Given the description of an element on the screen output the (x, y) to click on. 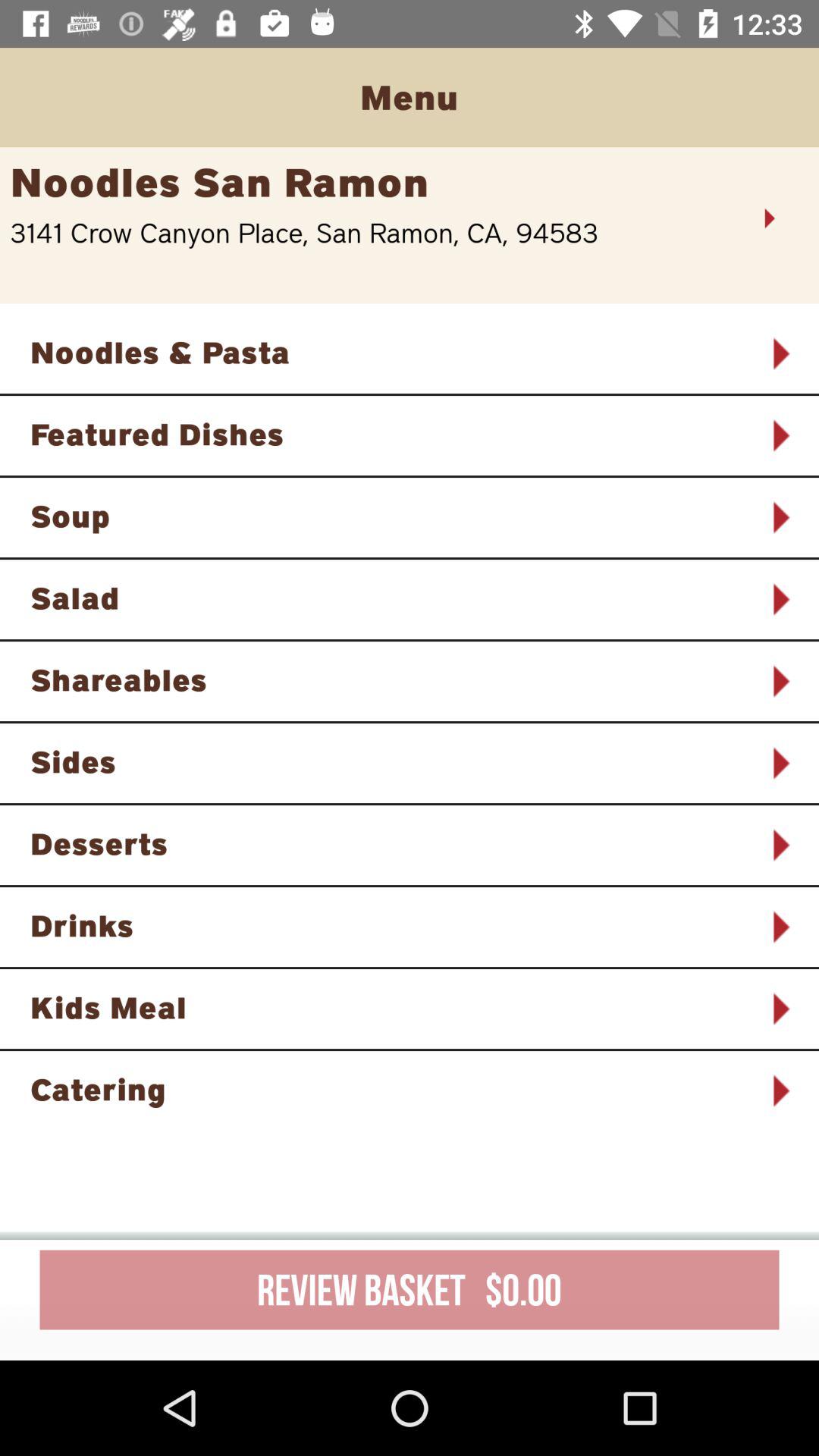
turn off the featured dishes  item (390, 433)
